Given the description of an element on the screen output the (x, y) to click on. 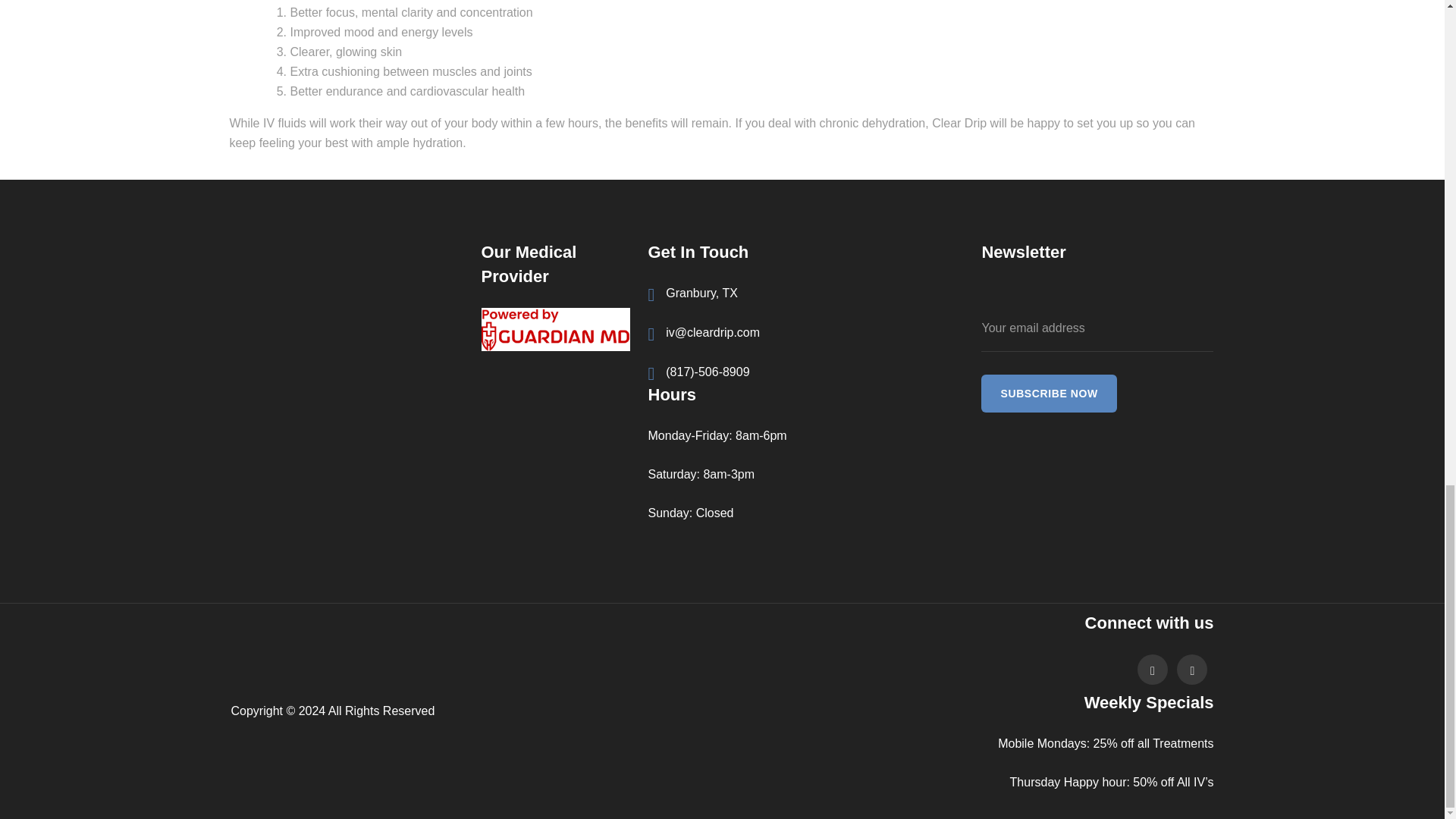
Subscribe Now (1048, 393)
